Given the description of an element on the screen output the (x, y) to click on. 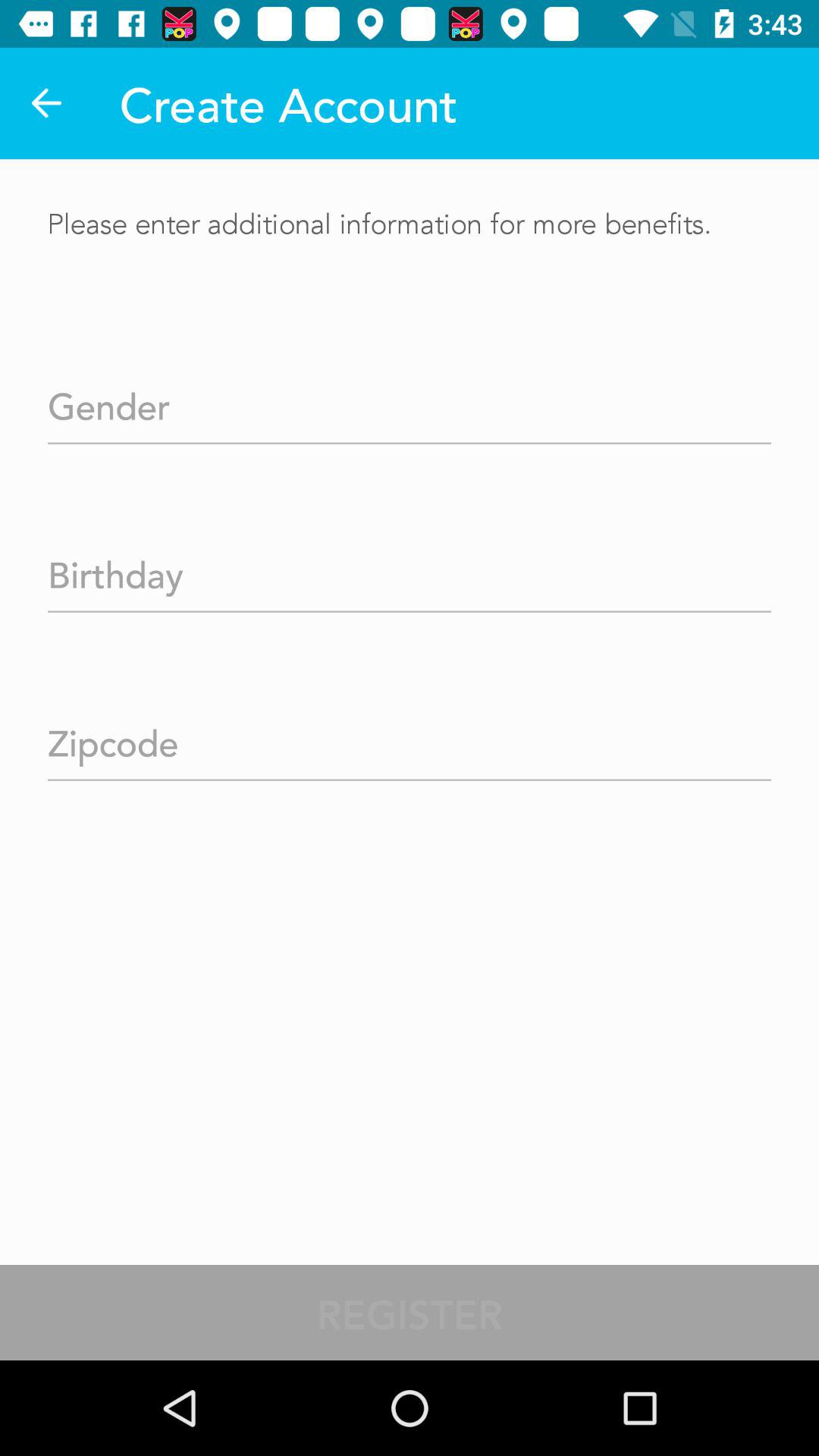
tap the register item (409, 1312)
